Given the description of an element on the screen output the (x, y) to click on. 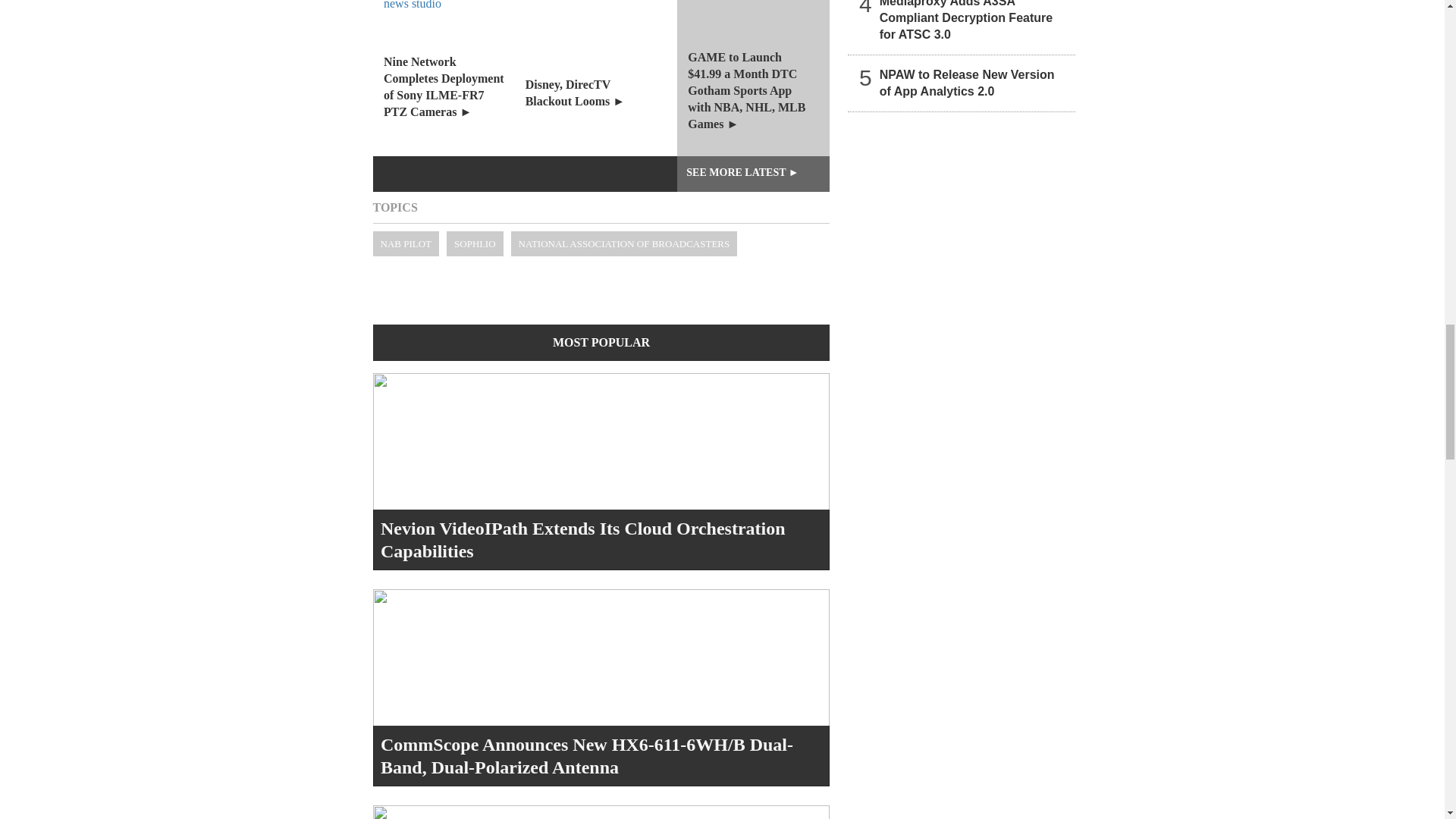
NAB PILOT (405, 243)
NATIONAL ASSOCIATION OF BROADCASTERS (624, 243)
SOPHI.IO (474, 243)
Disney, DirecTV Blackout Looms (600, 78)
